Given the description of an element on the screen output the (x, y) to click on. 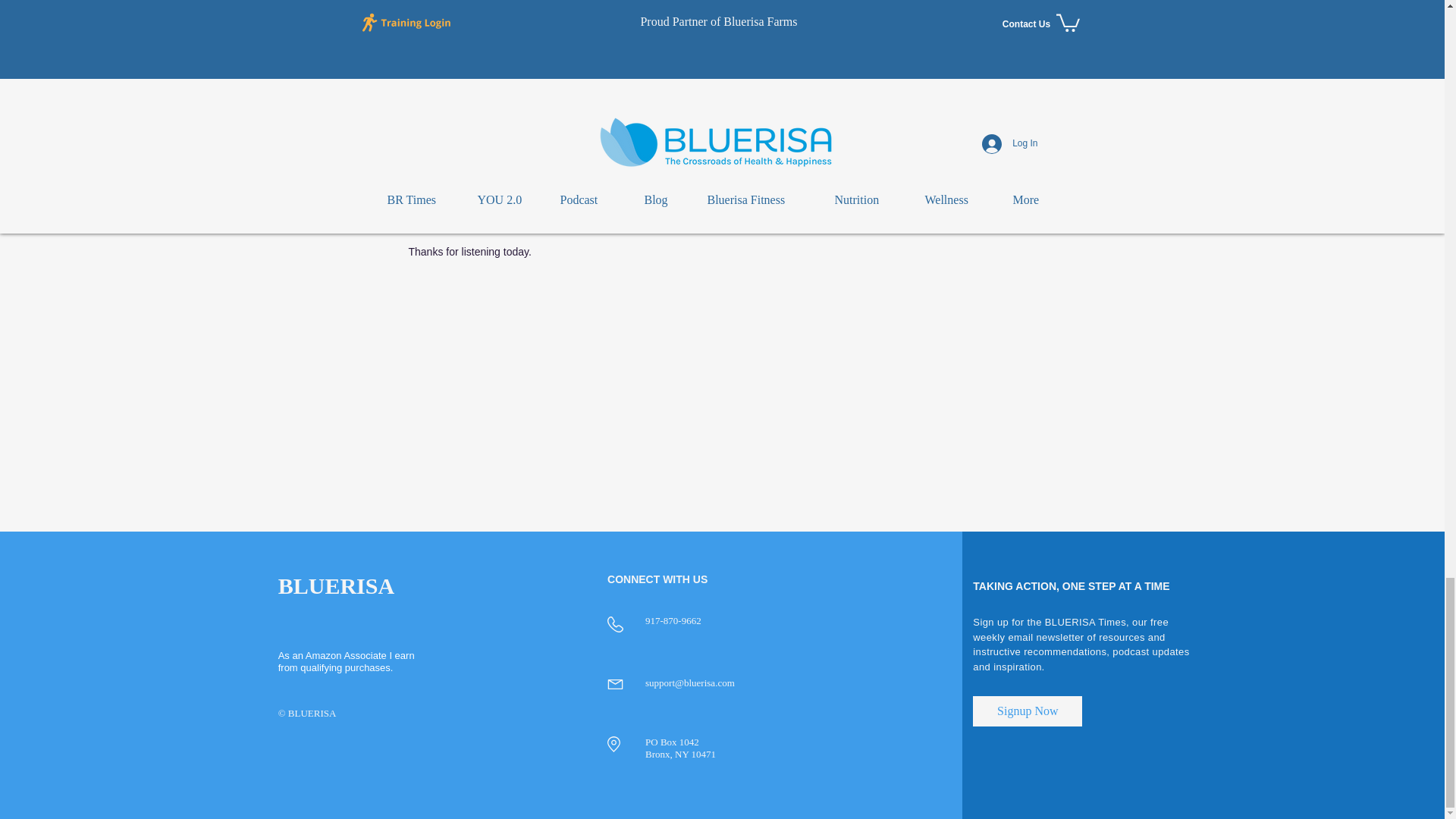
BLUERISA (336, 585)
917-870-9662 (673, 620)
Signup Now (1026, 711)
